Given the description of an element on the screen output the (x, y) to click on. 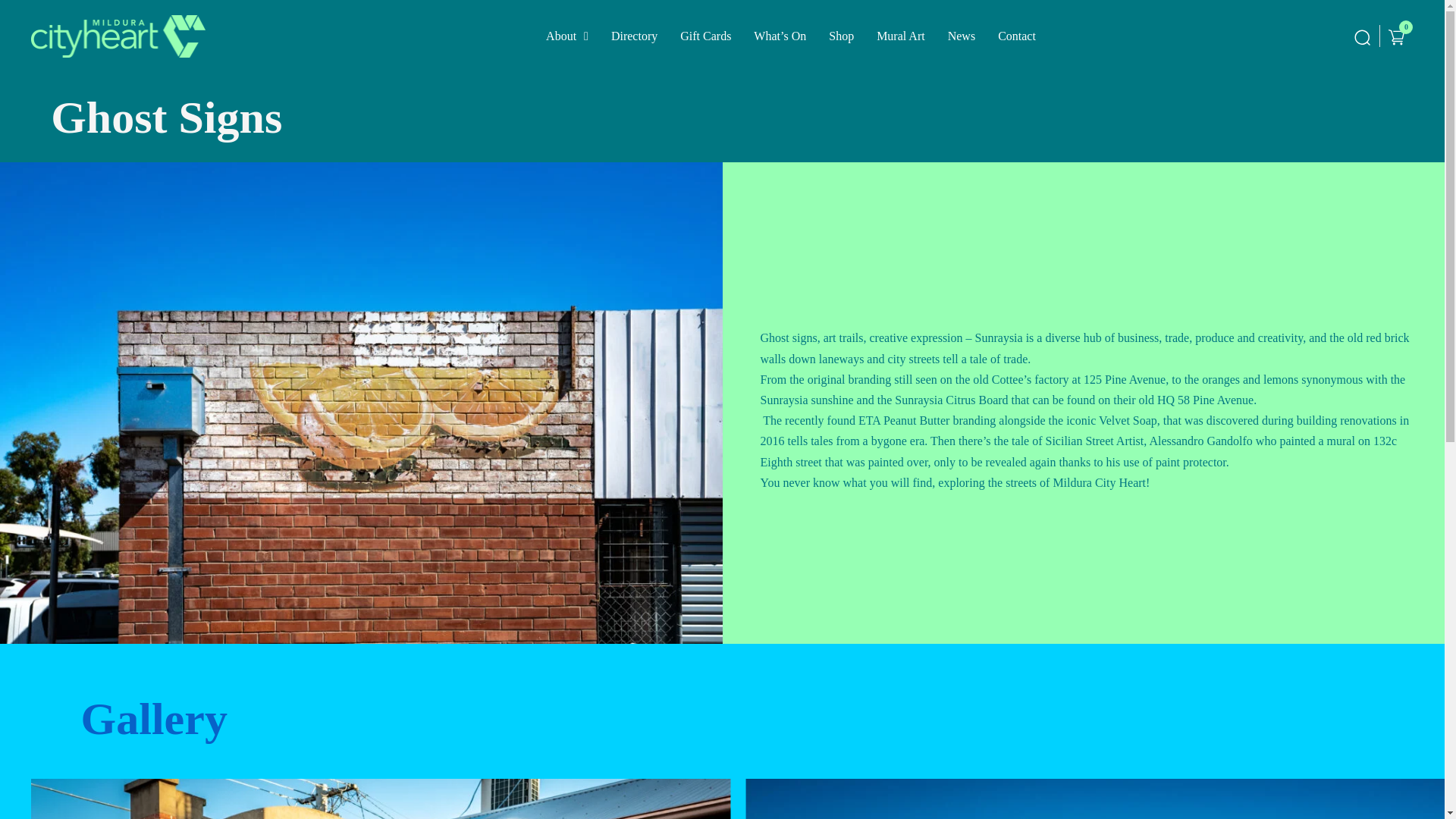
Gift Cards (704, 36)
About (561, 36)
News (961, 36)
0 (1396, 36)
Directory (634, 36)
Contact (1016, 36)
Shop (840, 36)
Mural Art (900, 36)
